Given the description of an element on the screen output the (x, y) to click on. 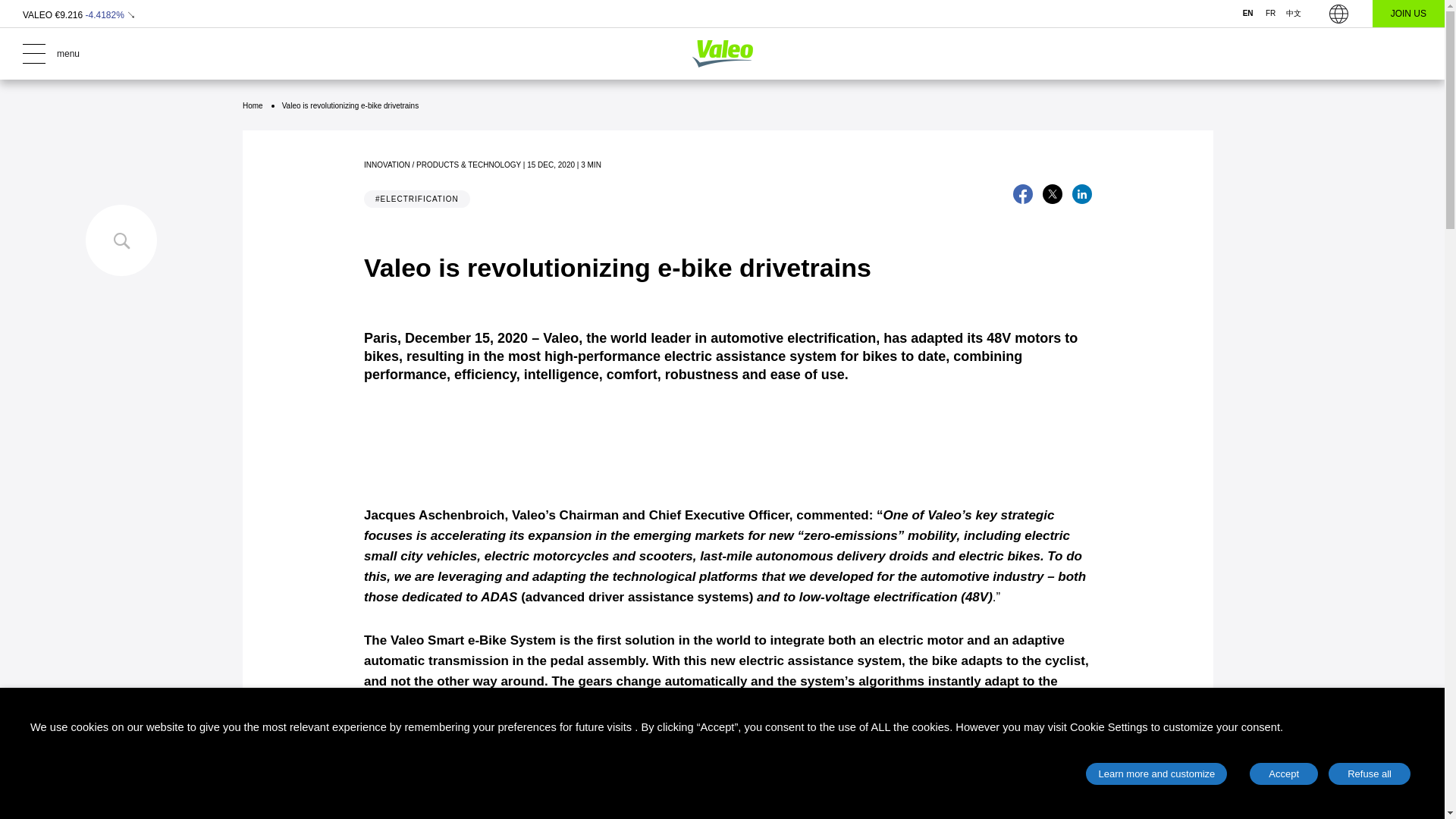
menu (121, 54)
FR (1270, 13)
EN (1247, 13)
